Given the description of an element on the screen output the (x, y) to click on. 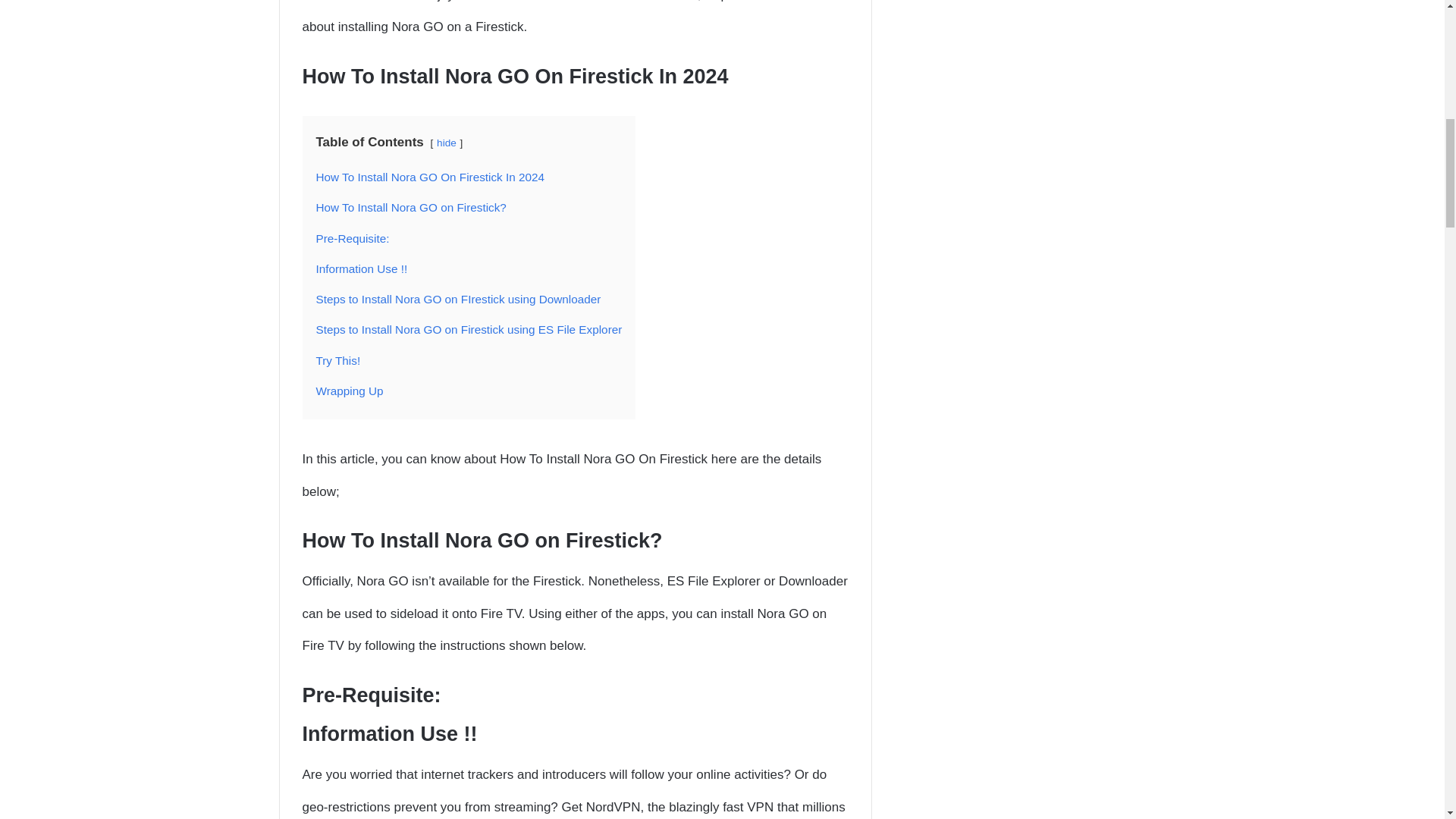
hide (446, 142)
How To Install Nora GO On Firestick In 2024 (429, 176)
Steps to Install Nora GO on FIrestick using Downloader (457, 298)
Steps to Install Nora GO on Firestick using ES File Explorer (468, 328)
Wrapping Up (348, 390)
Information Use !! (361, 268)
Try This! (337, 359)
Pre-Requisite: (351, 237)
How To Install Nora GO on Firestick? (410, 206)
